Given the description of an element on the screen output the (x, y) to click on. 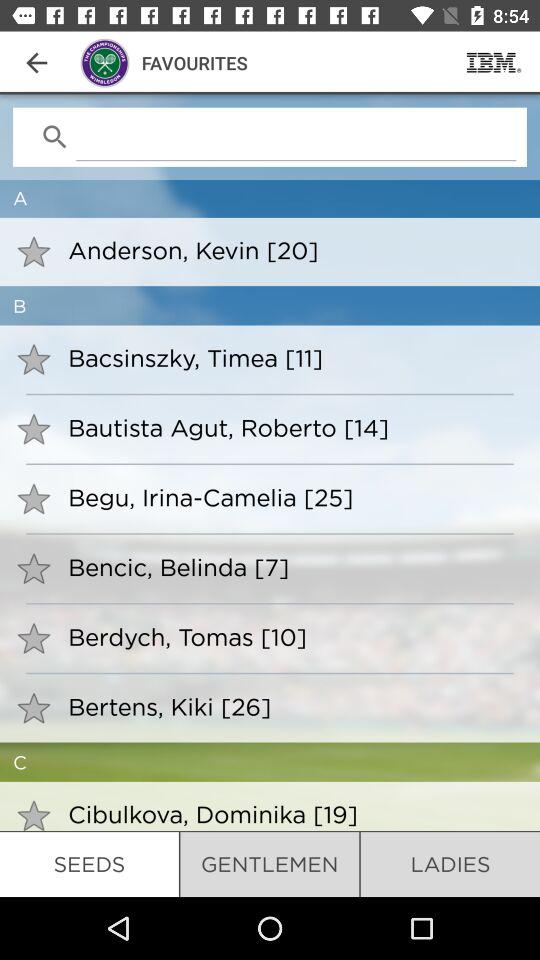
tap icon below cibulkova, dominika [19] icon (269, 863)
